Given the description of an element on the screen output the (x, y) to click on. 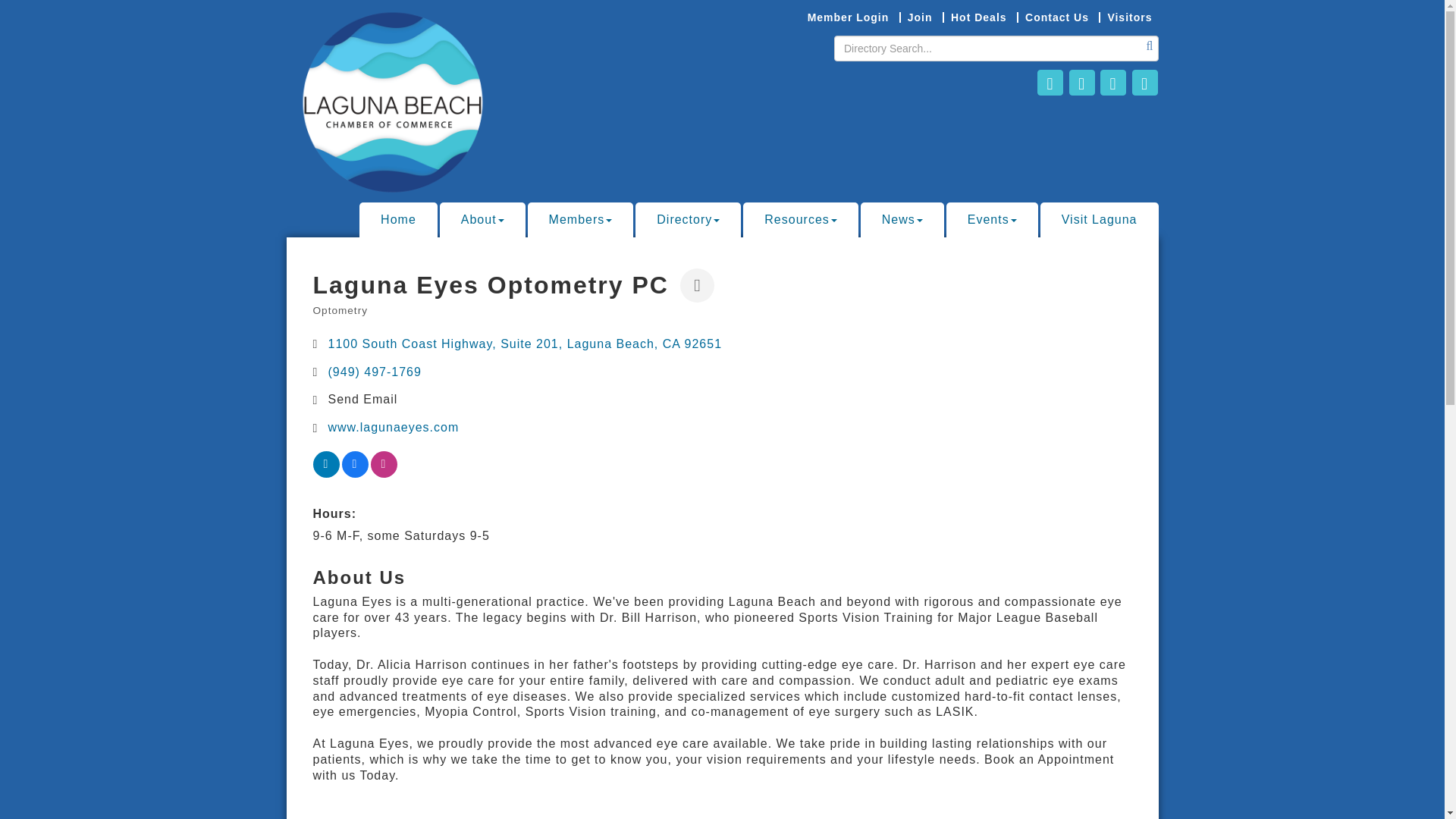
View on LinkedIn (326, 472)
Members (580, 219)
Visitors (1129, 17)
Icon Link (1081, 82)
Directory (687, 219)
Resources (799, 219)
View on Instagram (382, 472)
Home (398, 219)
Join (919, 17)
Contact Us (1056, 17)
Icon Link (1112, 82)
Icon Link (1049, 82)
About (482, 219)
View on Facebook (354, 472)
Hot Deals (978, 17)
